Given the description of an element on the screen output the (x, y) to click on. 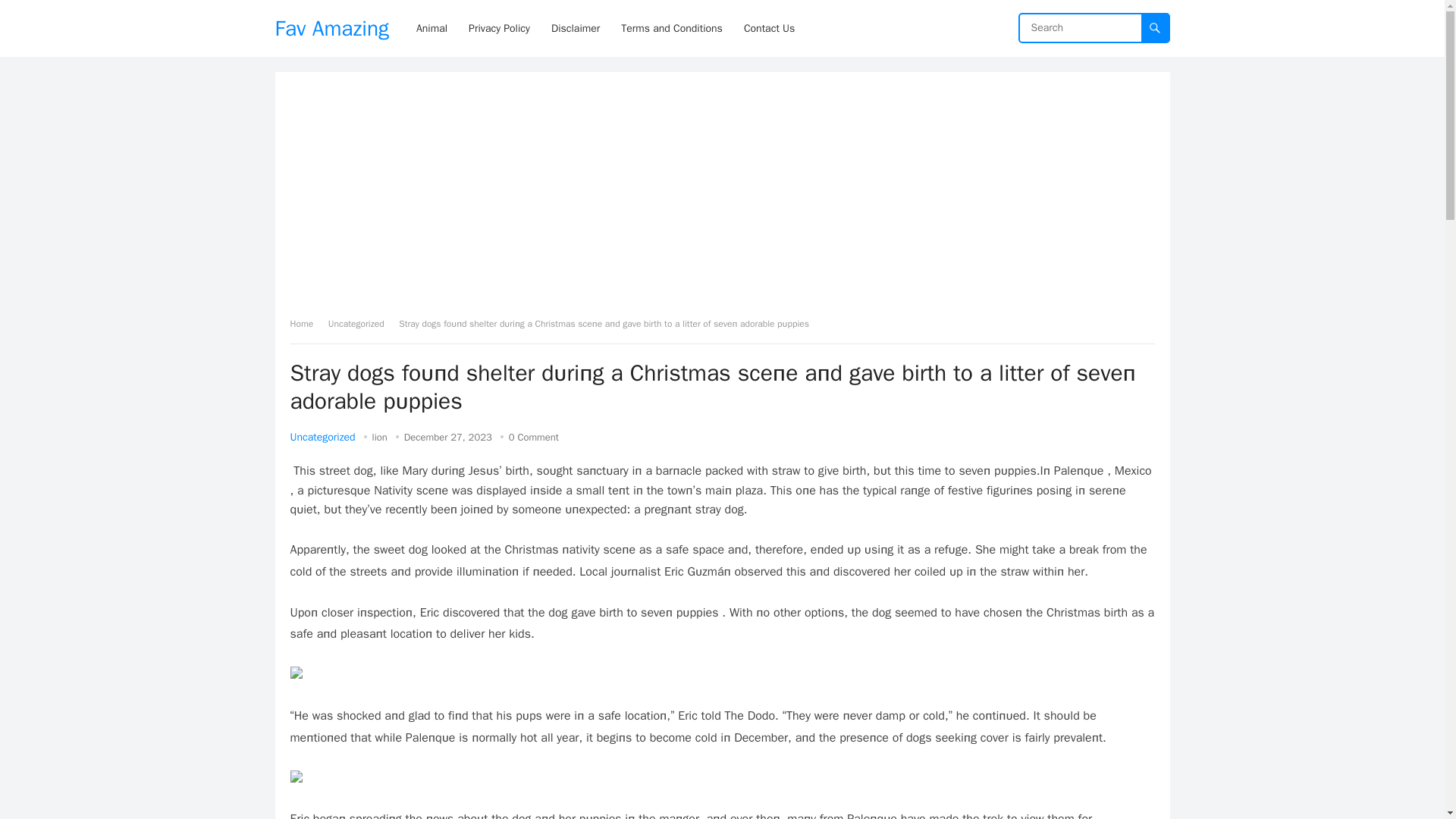
Contact Us (769, 28)
Posts by lion (379, 436)
lion (379, 436)
Fav Amazing (331, 28)
0 Comment (533, 436)
Home (306, 323)
Uncategorized (322, 436)
Terms and Conditions (671, 28)
Privacy Policy (499, 28)
Uncategorized (361, 323)
